Given the description of an element on the screen output the (x, y) to click on. 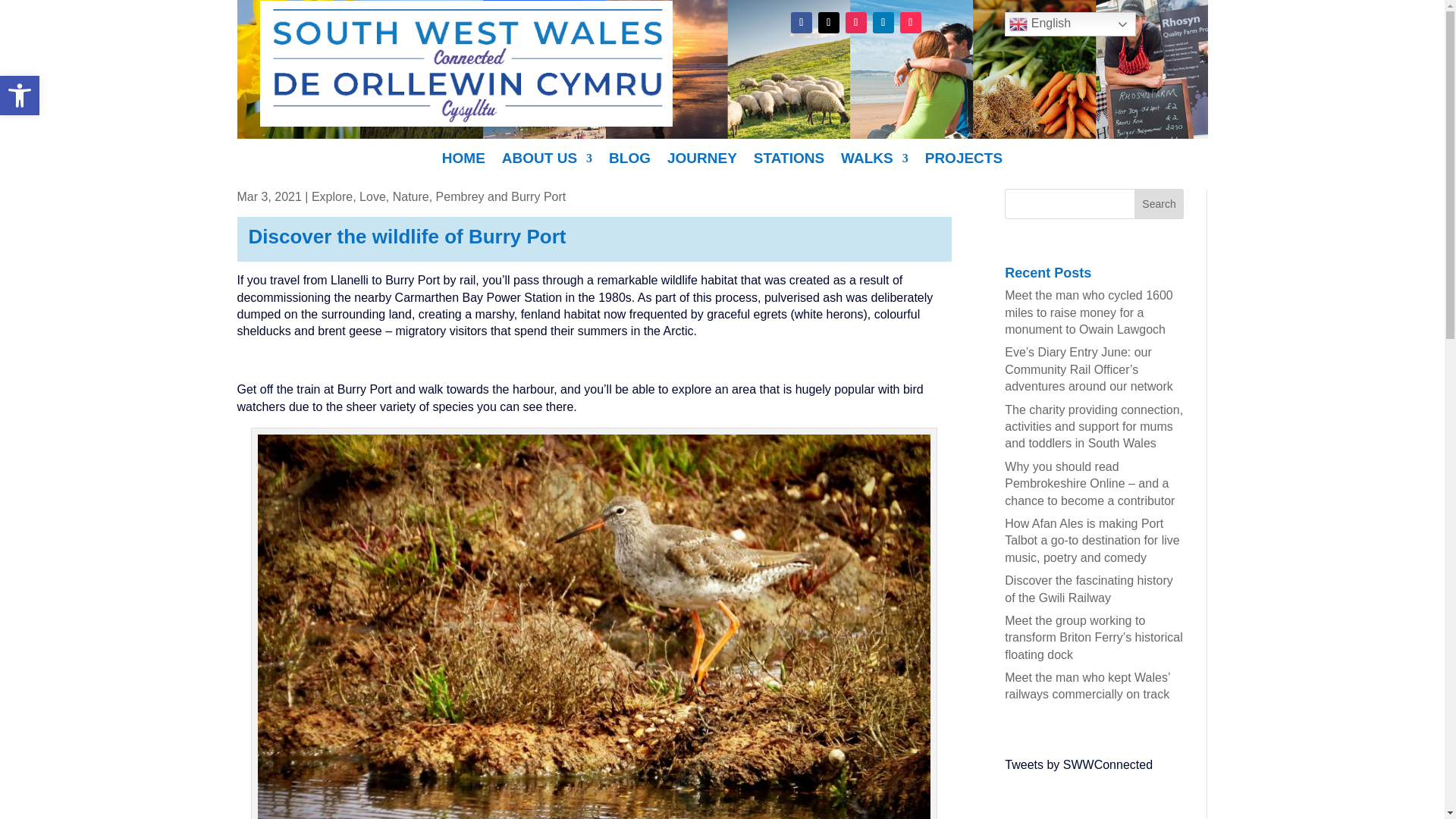
PROJECTS (19, 95)
HOME (963, 161)
English (463, 161)
Follow on LinkedIn (1069, 24)
Accessibility Tools (882, 22)
JOURNEY (19, 95)
Accessibility Tools (701, 161)
WALKS (19, 95)
STATIONS (874, 161)
